Given the description of an element on the screen output the (x, y) to click on. 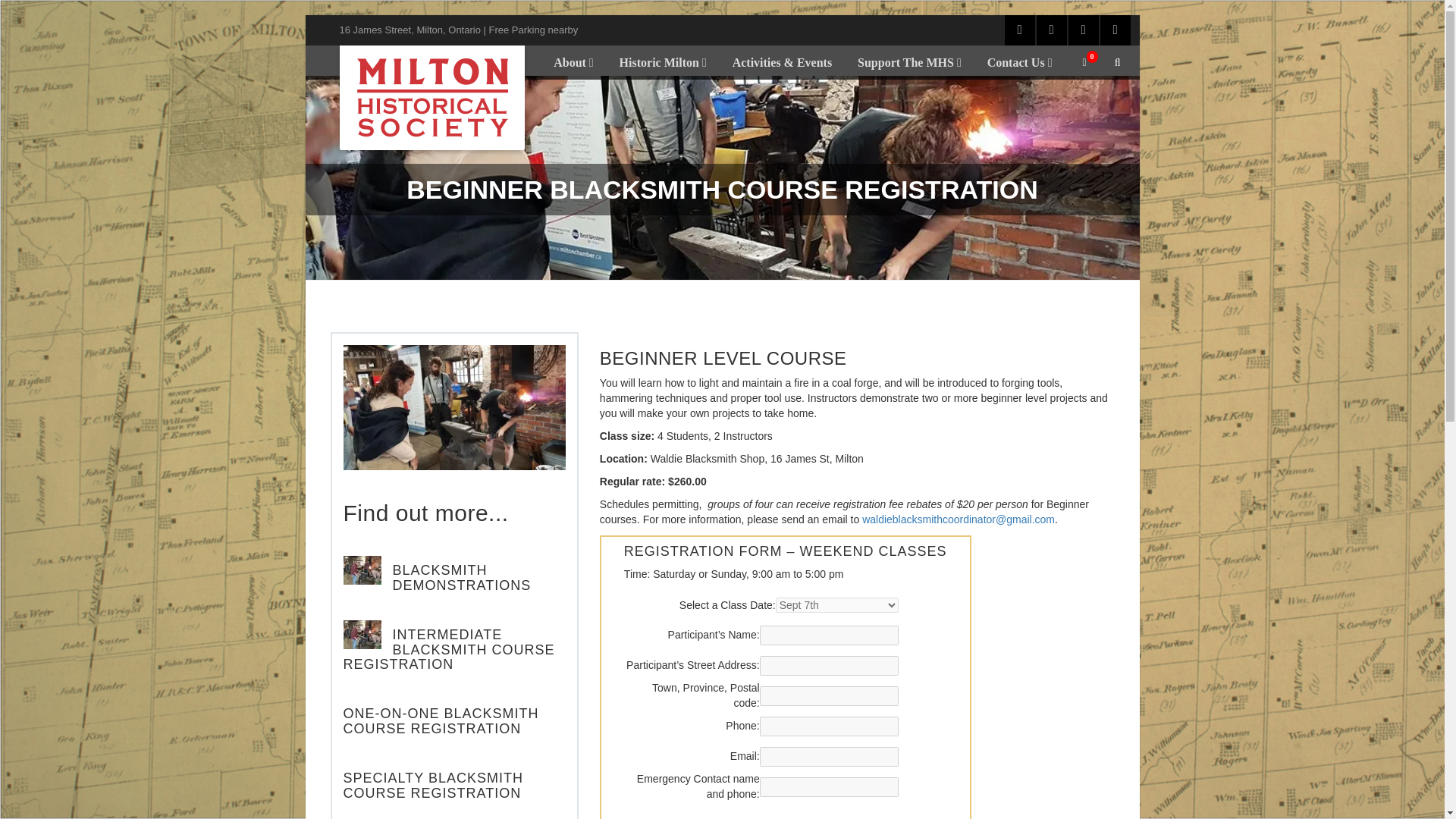
Milton Historical Society (432, 97)
Historic Milton (663, 62)
Blacksmith Demonstrations (462, 577)
Blacksmith Demonstrations (362, 569)
About (573, 62)
Intermediate Blacksmith Course Registration (448, 649)
Contact Us (1019, 62)
One-on-One Blacksmith Course Registration (440, 720)
Intermediate Blacksmith Course Registration (362, 633)
Support The MHS (908, 62)
Specialty Blacksmith Course Registration (432, 785)
